Given the description of an element on the screen output the (x, y) to click on. 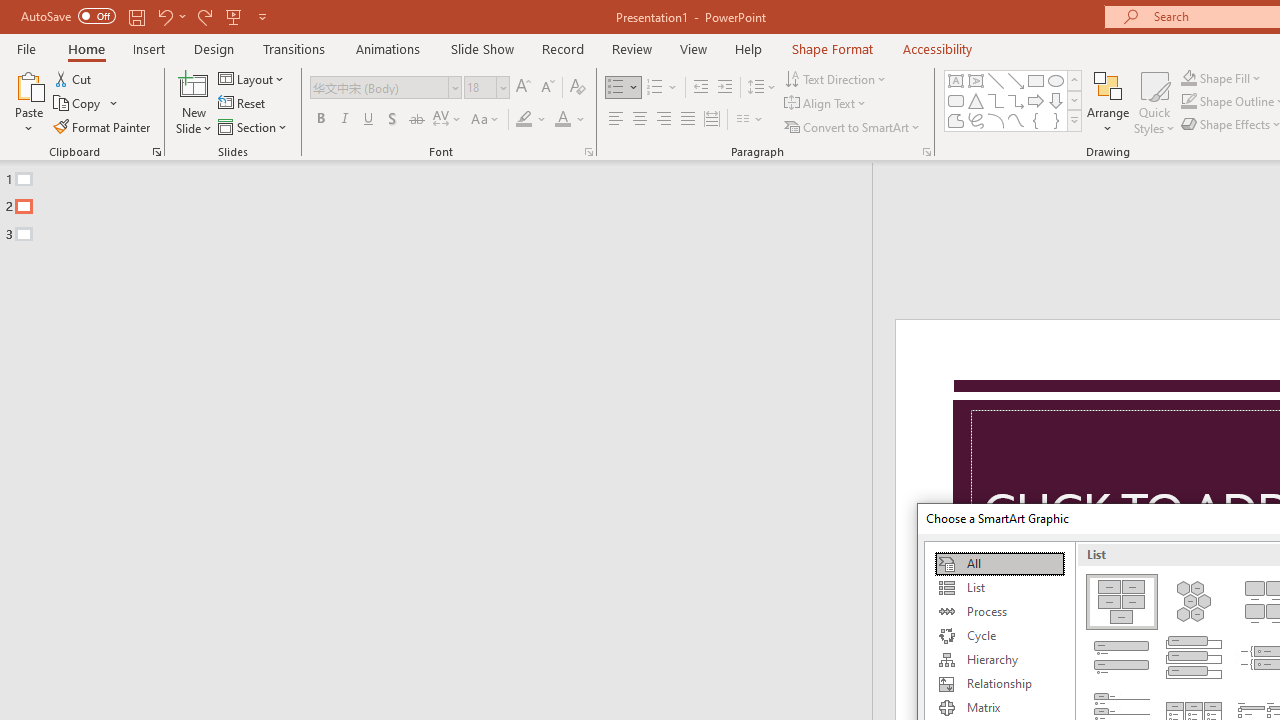
List (999, 587)
Vertical Box List (1194, 658)
Matrix (999, 708)
All (999, 564)
